Given the description of an element on the screen output the (x, y) to click on. 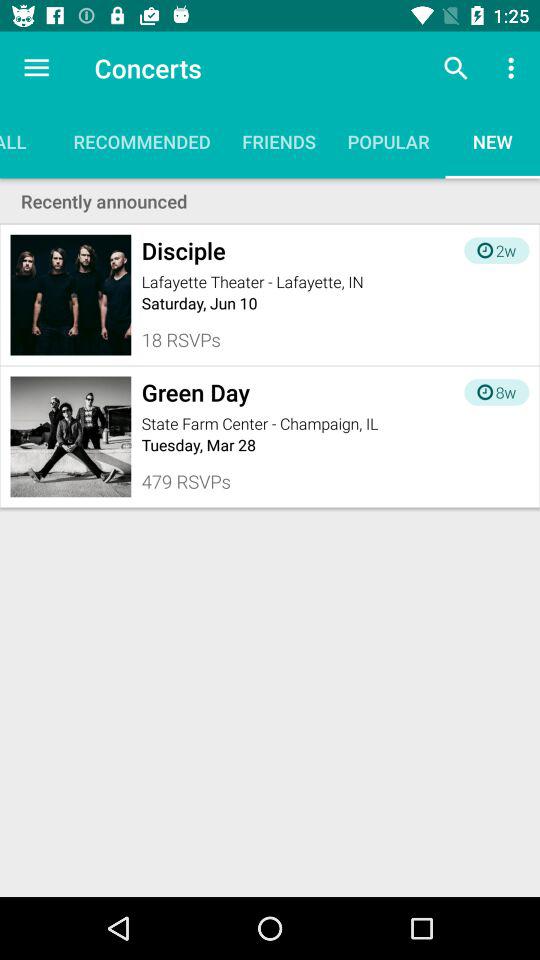
press the item to the left of the concerts icon (36, 68)
